Given the description of an element on the screen output the (x, y) to click on. 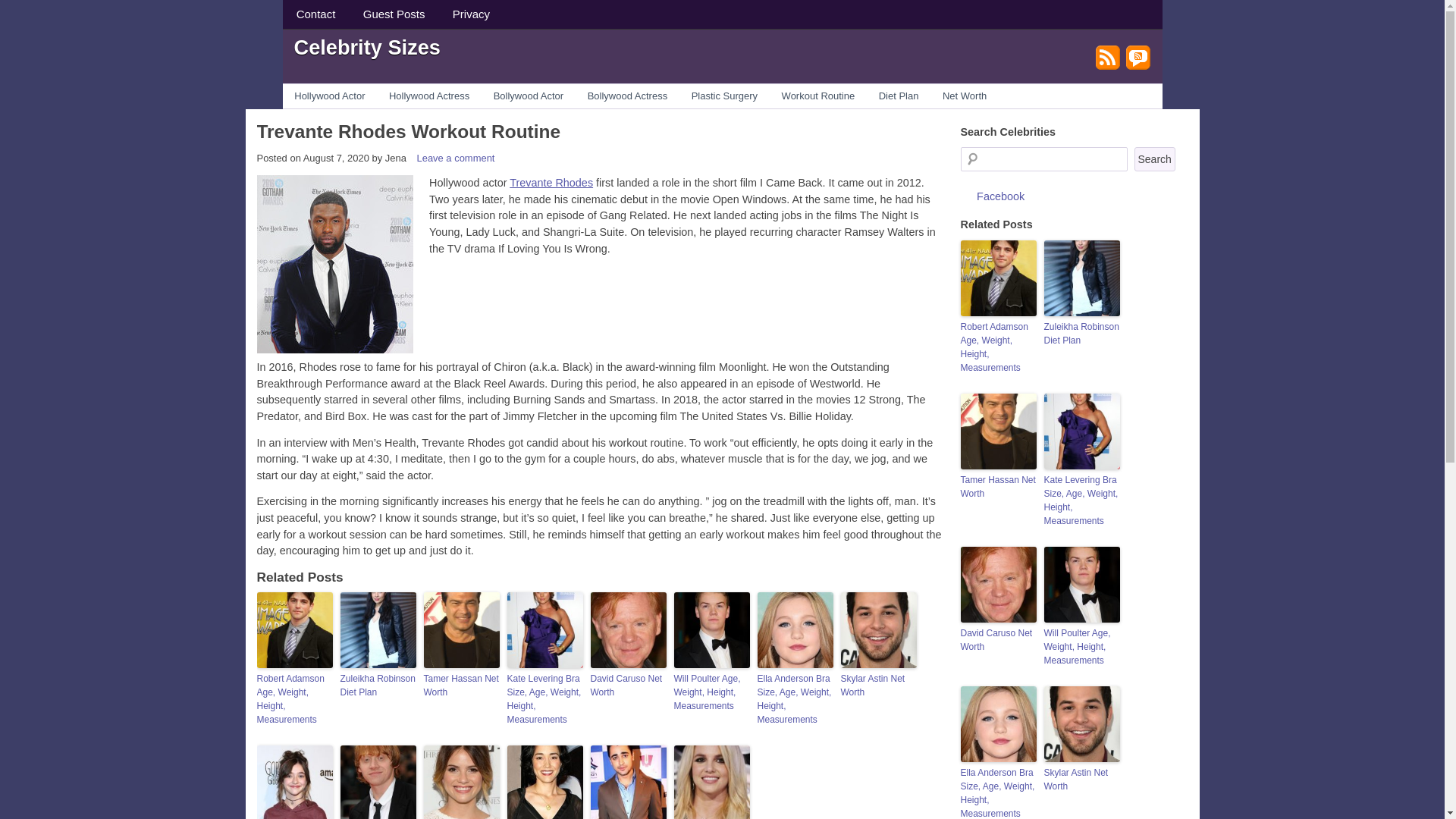
Zuleikha Robinson Diet Plan (376, 685)
Hollywood Actor (329, 96)
Bollywood Actress (627, 96)
Ella Anderson Bra Size, Age, Weight, Height, Measurements (794, 698)
11:45 am (335, 157)
Robert Adamson Age, Weight, Height, Measurements (293, 698)
View all posts by Jena (395, 157)
Net Worth (964, 96)
Workout Routine (818, 96)
Skylar Astin Net Worth (877, 685)
